Given the description of an element on the screen output the (x, y) to click on. 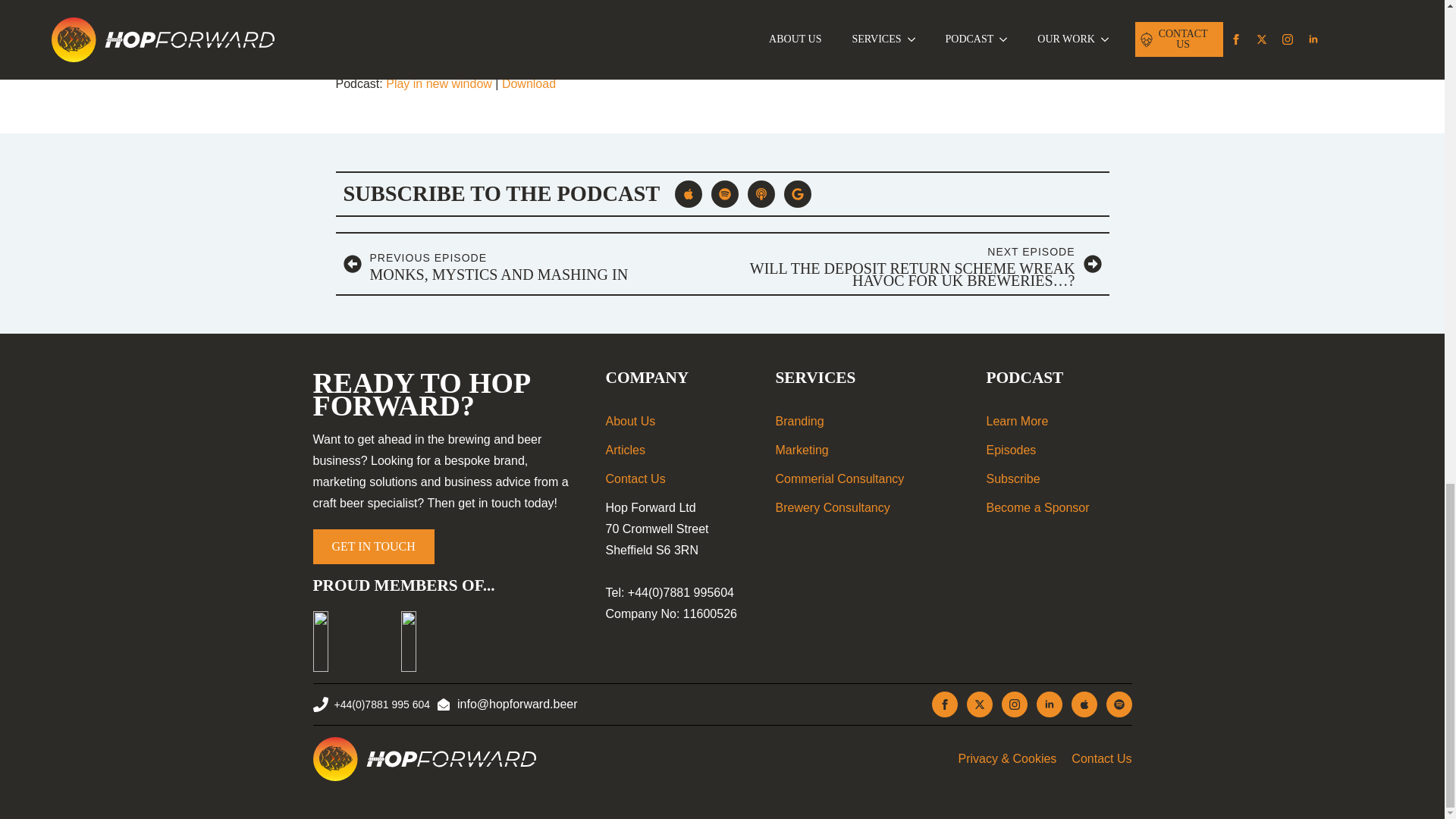
Download (529, 83)
Download (529, 83)
Play in new window (528, 263)
Play in new window (438, 83)
